Given the description of an element on the screen output the (x, y) to click on. 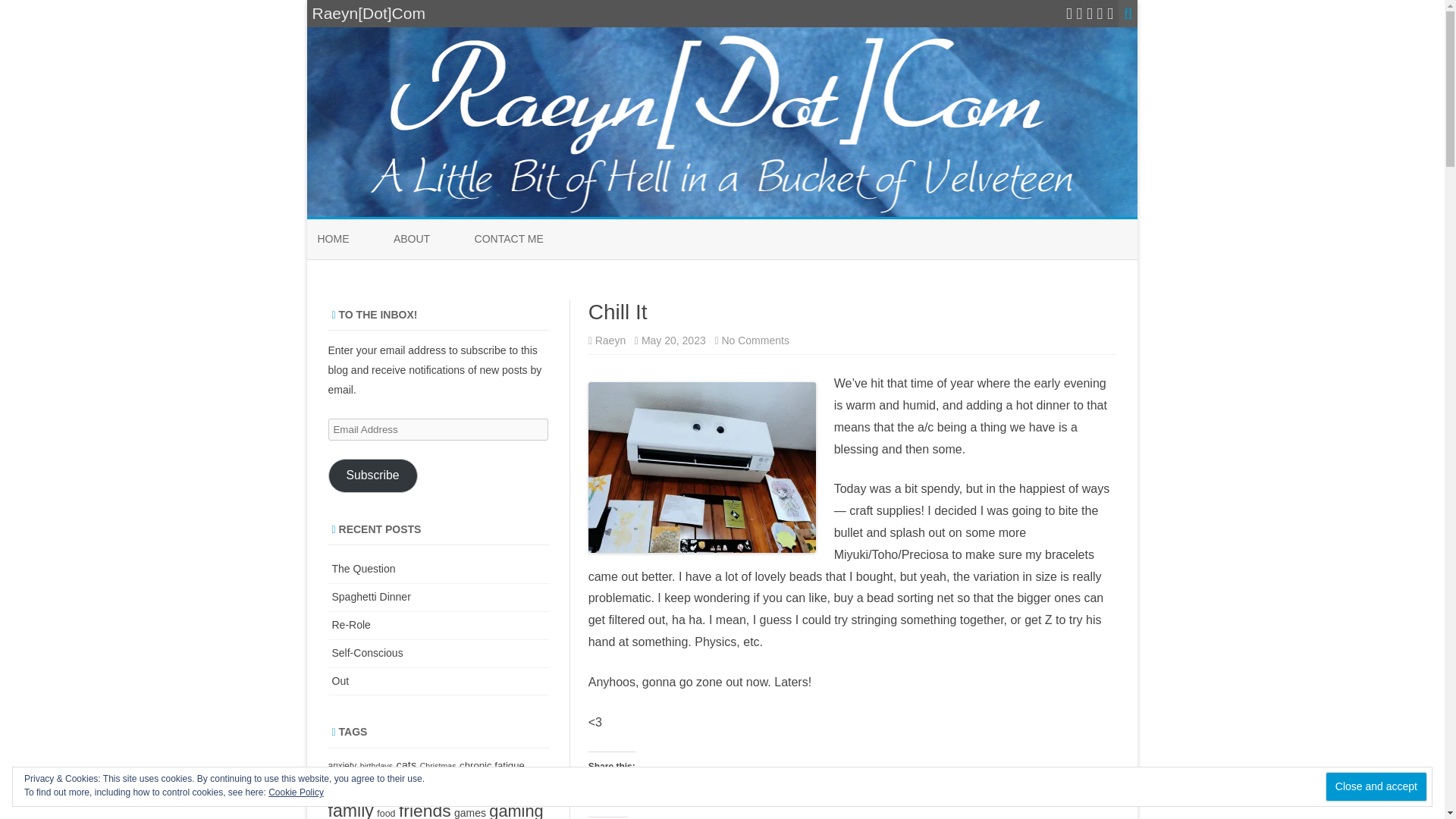
Tweet (663, 788)
CONTACT ME (754, 340)
More (508, 239)
Email (804, 789)
ABOUT (611, 789)
Share on Tumblr (411, 239)
Skip to content (729, 788)
Close and accept (611, 789)
Share on Tumblr (1375, 786)
Raeyn (729, 788)
